Given the description of an element on the screen output the (x, y) to click on. 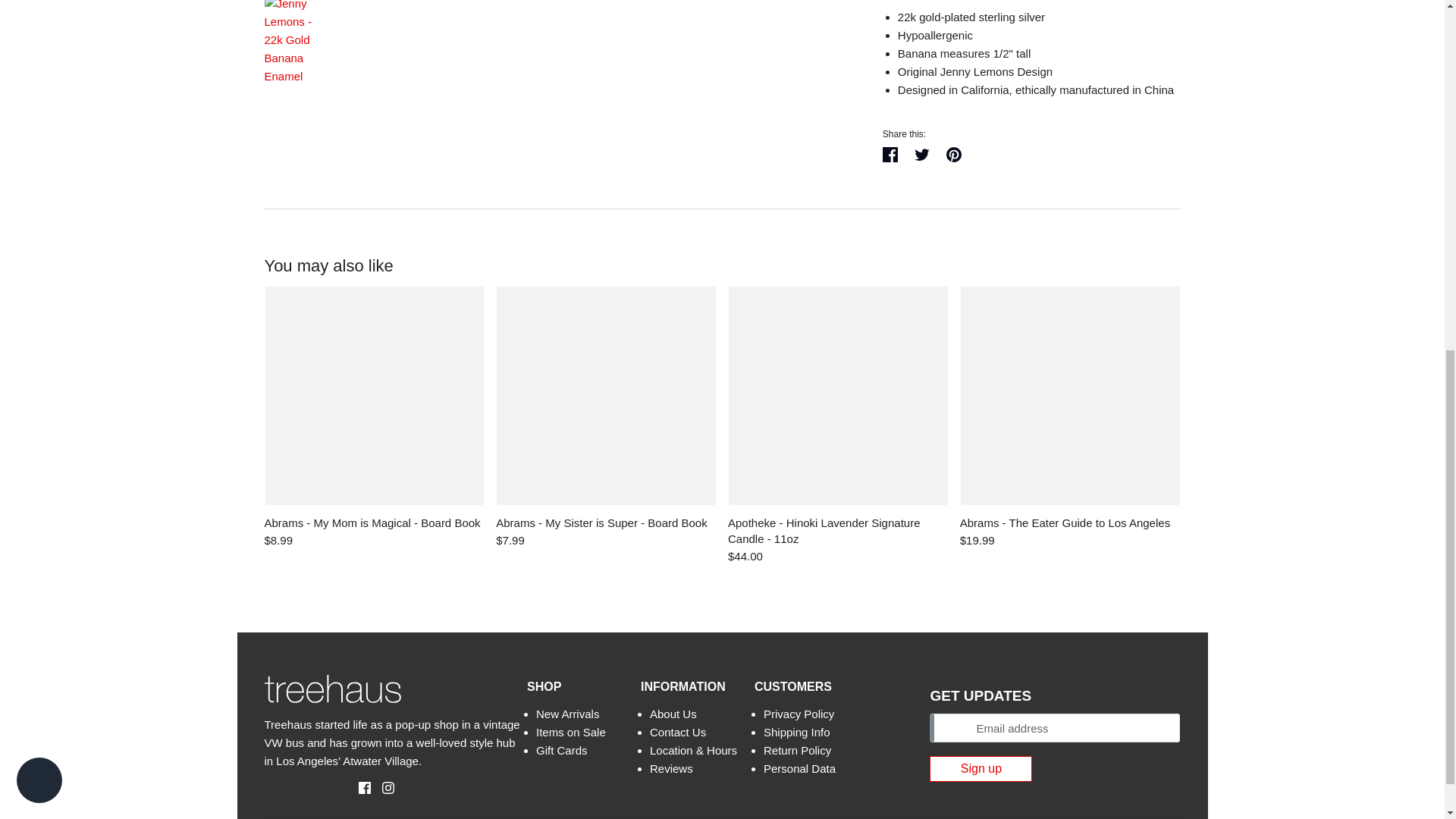
Instagram (382, 786)
Facebook (359, 786)
Shopify online store chat (38, 140)
